Given the description of an element on the screen output the (x, y) to click on. 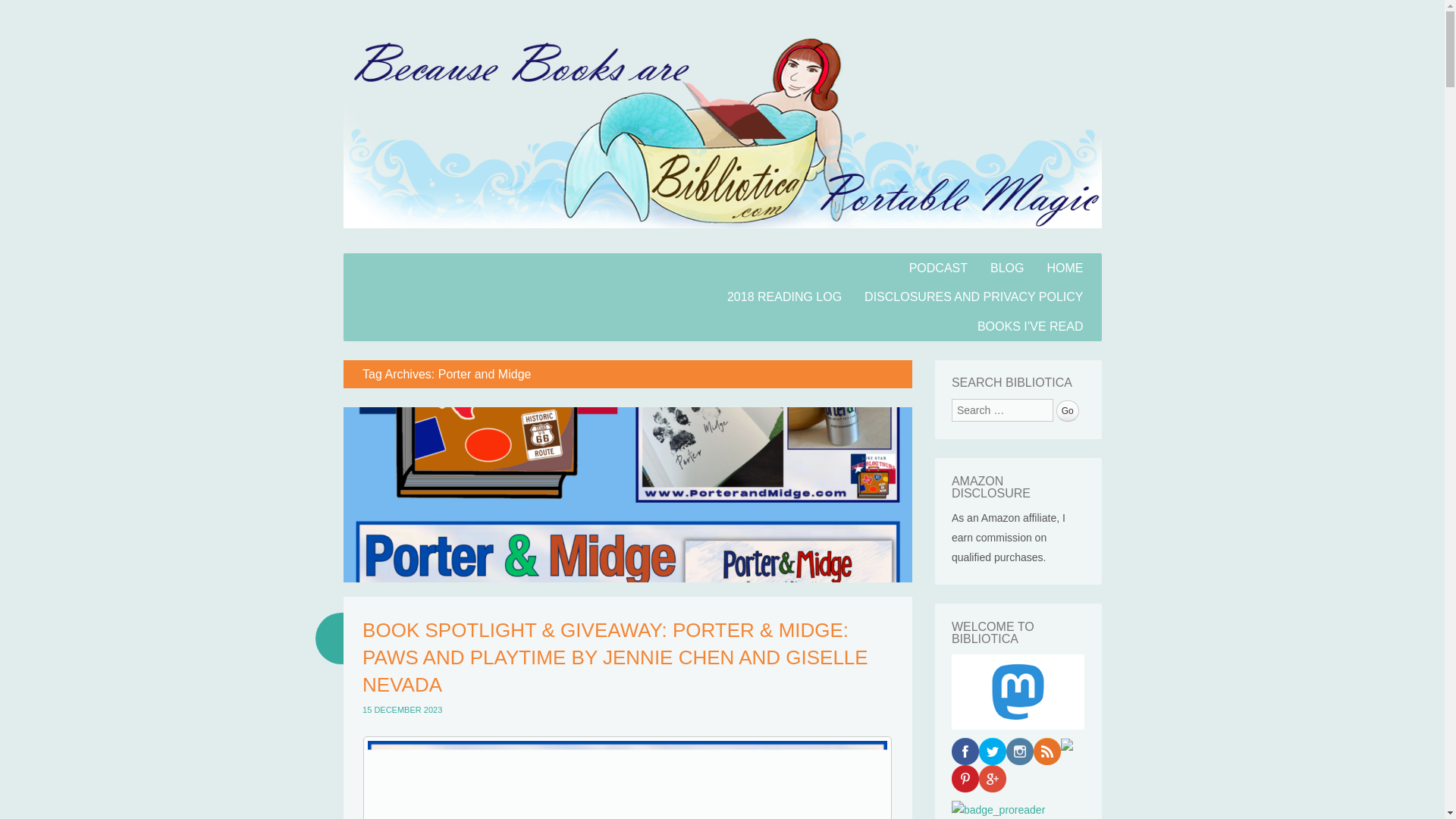
Skip to content (382, 262)
Go (1067, 410)
Bibliotica (430, 295)
2018 READING LOG (784, 297)
PODCAST (938, 267)
Bibliotica (430, 295)
08:00 (402, 709)
Skip to content (382, 262)
DISCLOSURES AND PRIVACY POLICY (973, 297)
BLOG (1006, 267)
HOME (1064, 267)
Bibliotica (721, 243)
15 DECEMBER 2023 (402, 709)
